Given the description of an element on the screen output the (x, y) to click on. 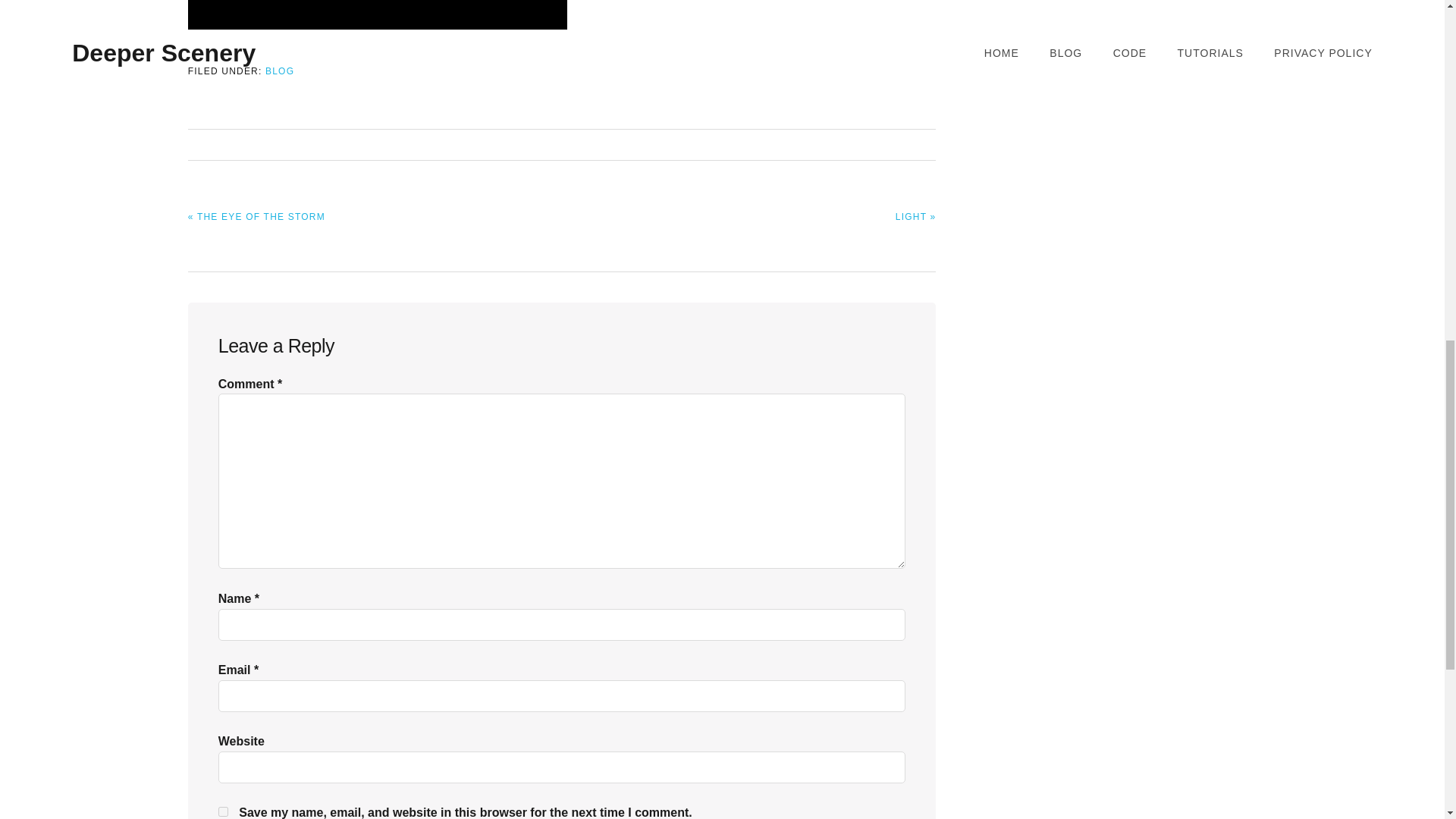
yes (223, 811)
BLOG (279, 71)
VideoPress Video Player (377, 14)
